Given the description of an element on the screen output the (x, y) to click on. 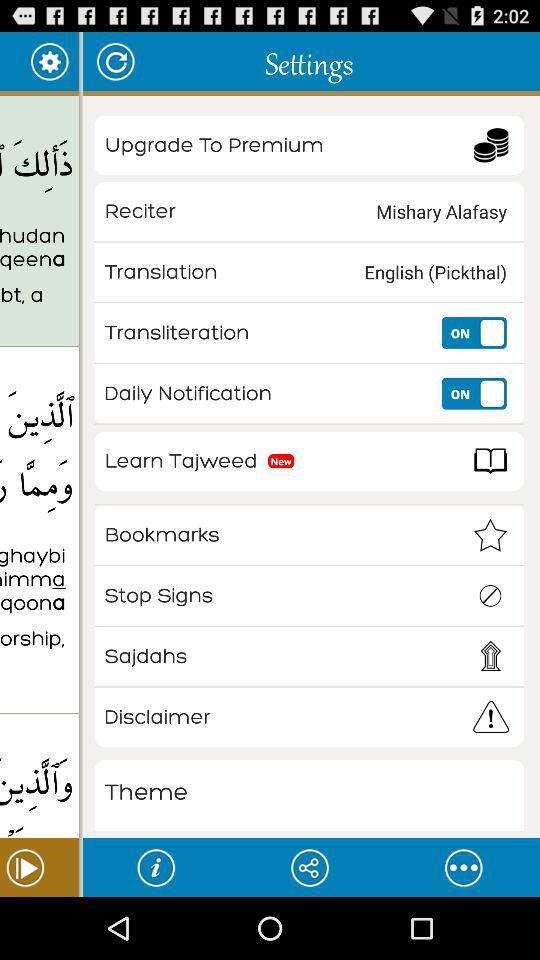
turn on the icon below the thalika alkitabu la icon (39, 311)
